Given the description of an element on the screen output the (x, y) to click on. 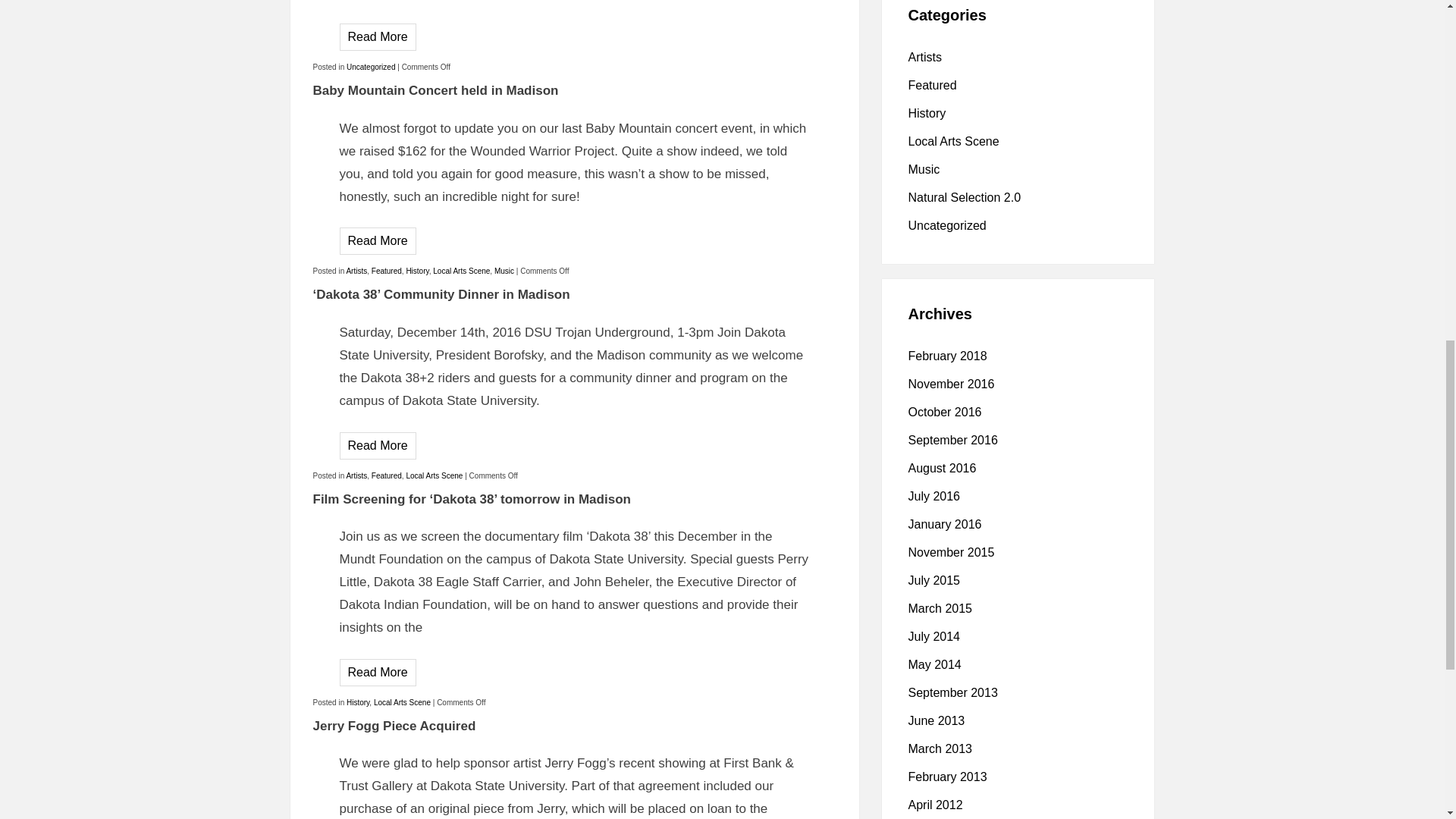
Read More (377, 671)
History (417, 270)
Music (504, 270)
Local Arts Scene (402, 702)
Read More (377, 36)
Artists (356, 475)
Local Arts Scene (434, 475)
Artists (356, 270)
Baby Mountain Concert held in Madison (435, 90)
Featured (386, 475)
Local Arts Scene (460, 270)
Uncategorized (370, 67)
Featured (386, 270)
History (357, 702)
Read More (377, 240)
